Given the description of an element on the screen output the (x, y) to click on. 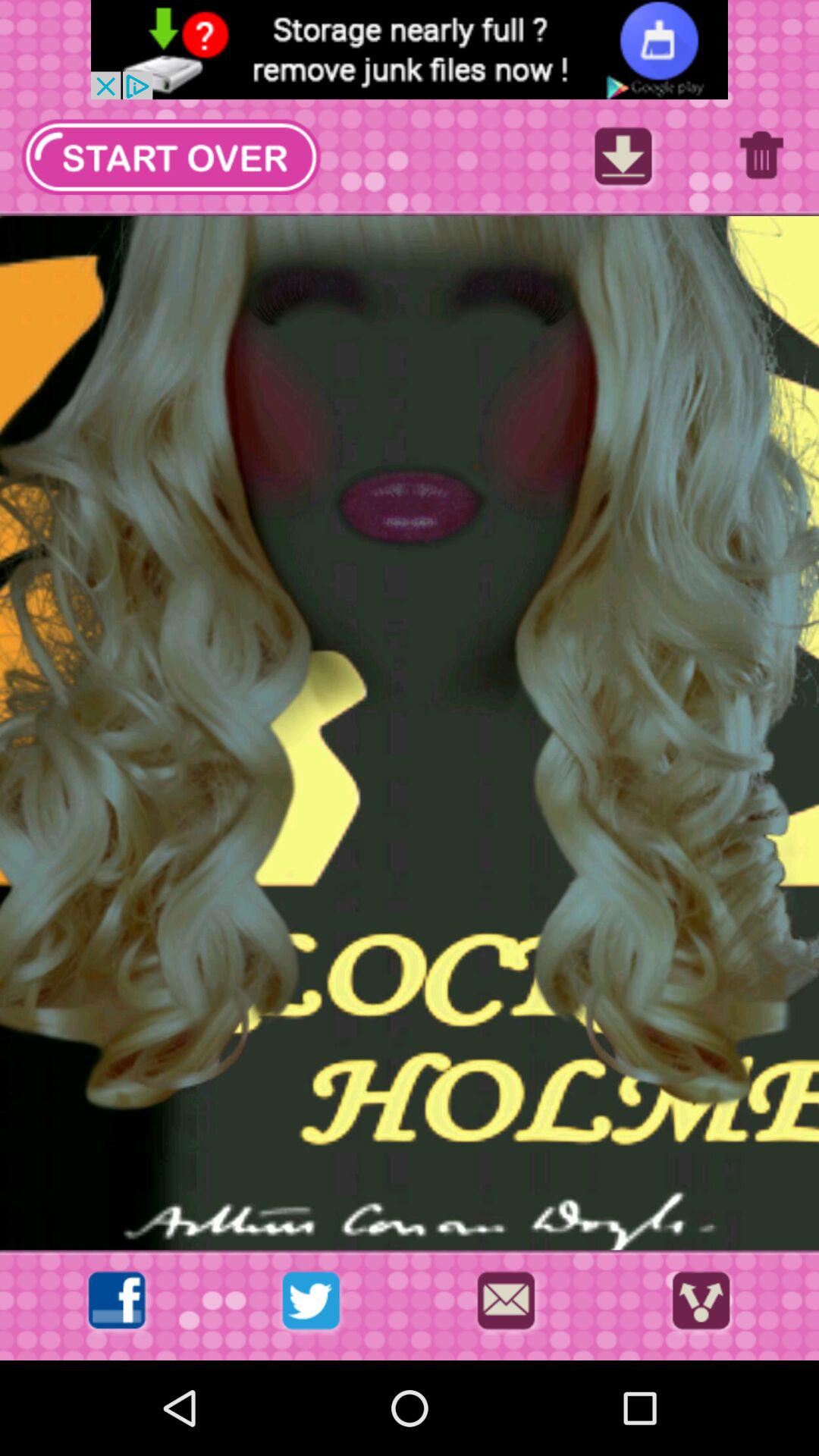
open advertisement (409, 49)
